Given the description of an element on the screen output the (x, y) to click on. 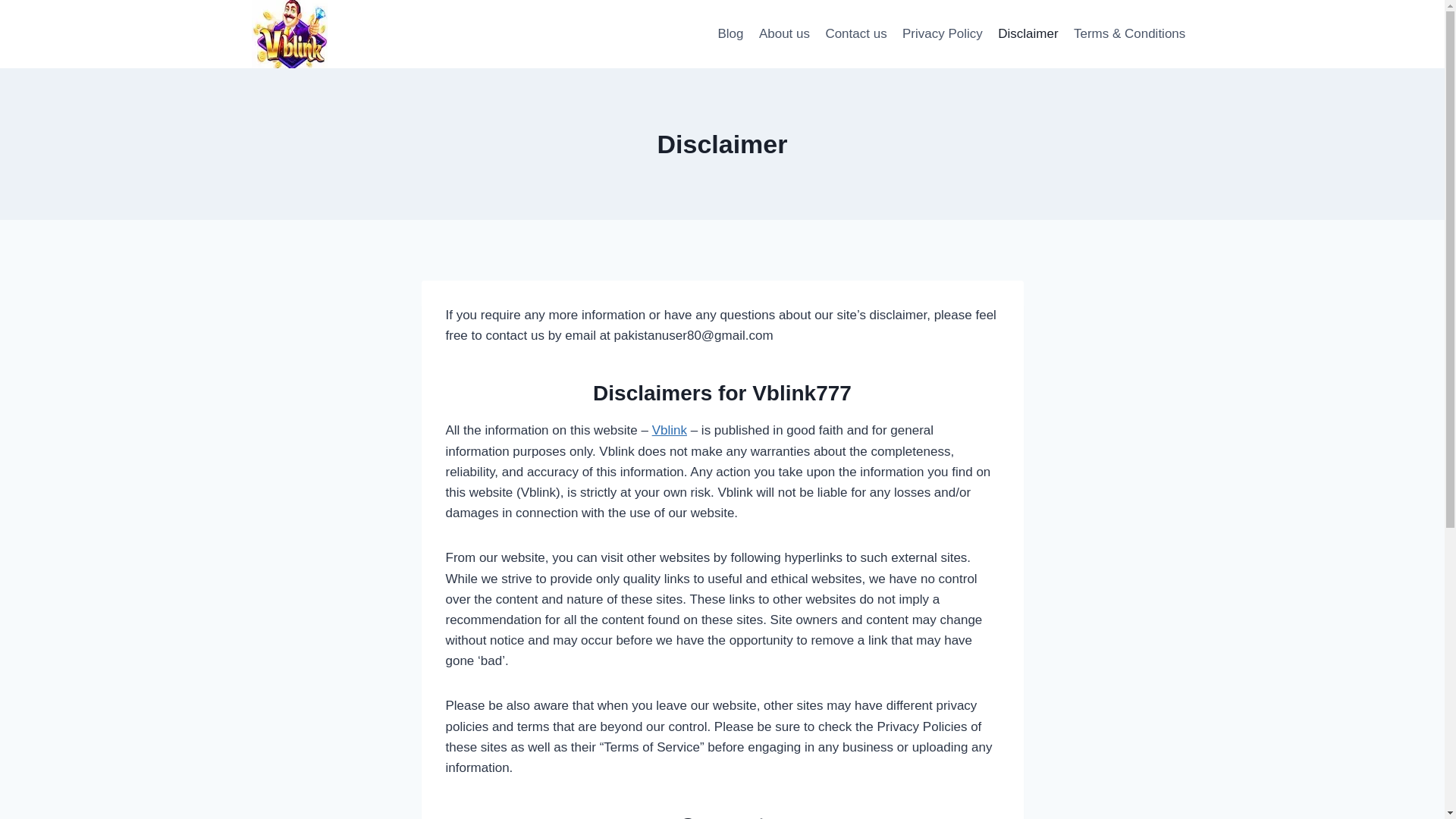
Privacy Policy (942, 33)
Blog (730, 33)
About us (783, 33)
Vblink (669, 430)
Disclaimer (1027, 33)
Contact us (855, 33)
